Given the description of an element on the screen output the (x, y) to click on. 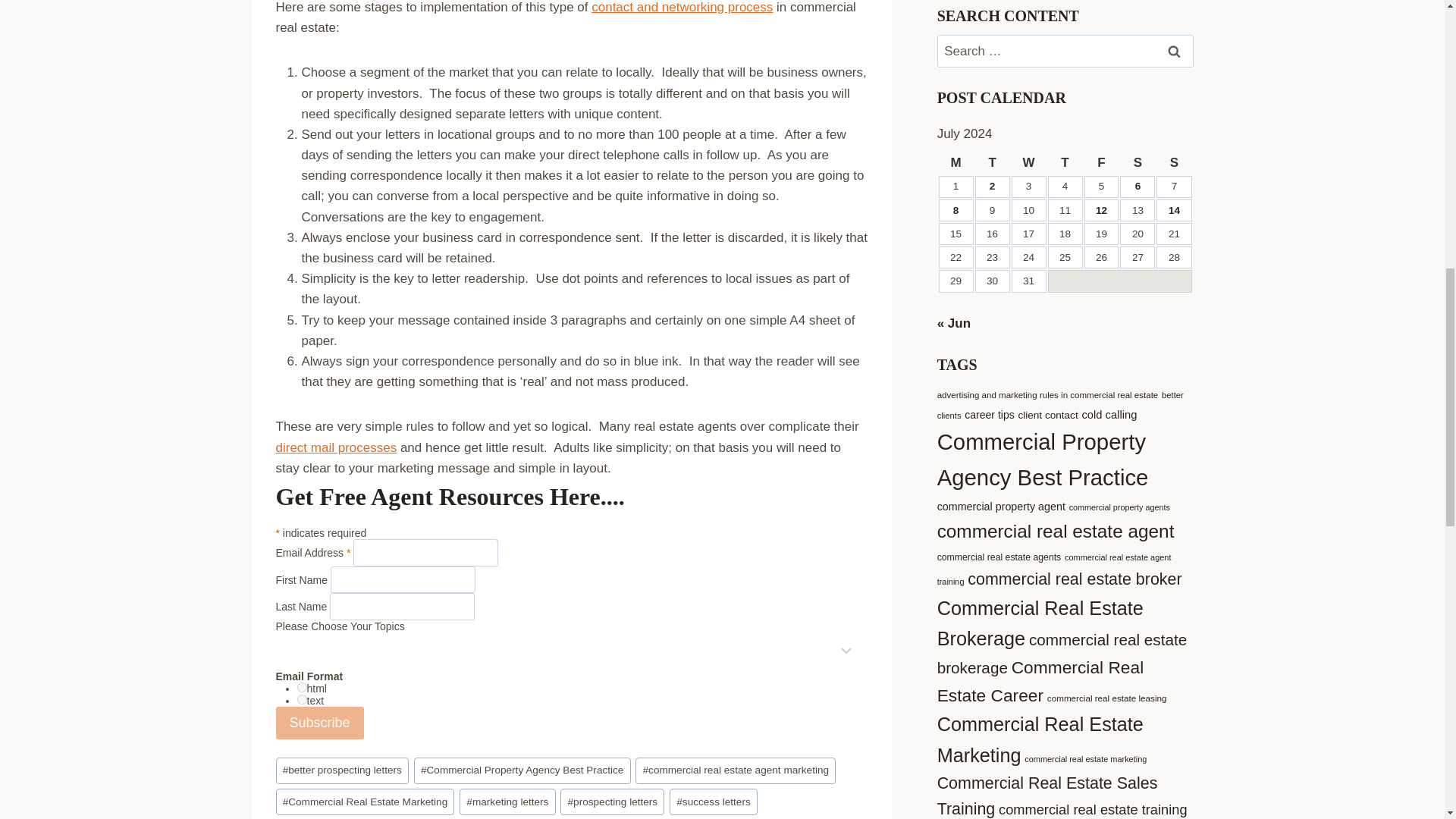
Search (1174, 51)
Subscribe (320, 722)
Thursday (1065, 162)
text (302, 699)
contact and networking process (682, 7)
Tuesday (992, 162)
marketing letters (507, 801)
Commercial Property Agency Best Practice (521, 770)
Wednesday (1028, 162)
commercial real estate agent marketing (734, 770)
Monday (956, 162)
Subscribe (320, 722)
success letters (713, 801)
direct mail processes (336, 447)
Commercial Real Estate Marketing (365, 801)
